Given the description of an element on the screen output the (x, y) to click on. 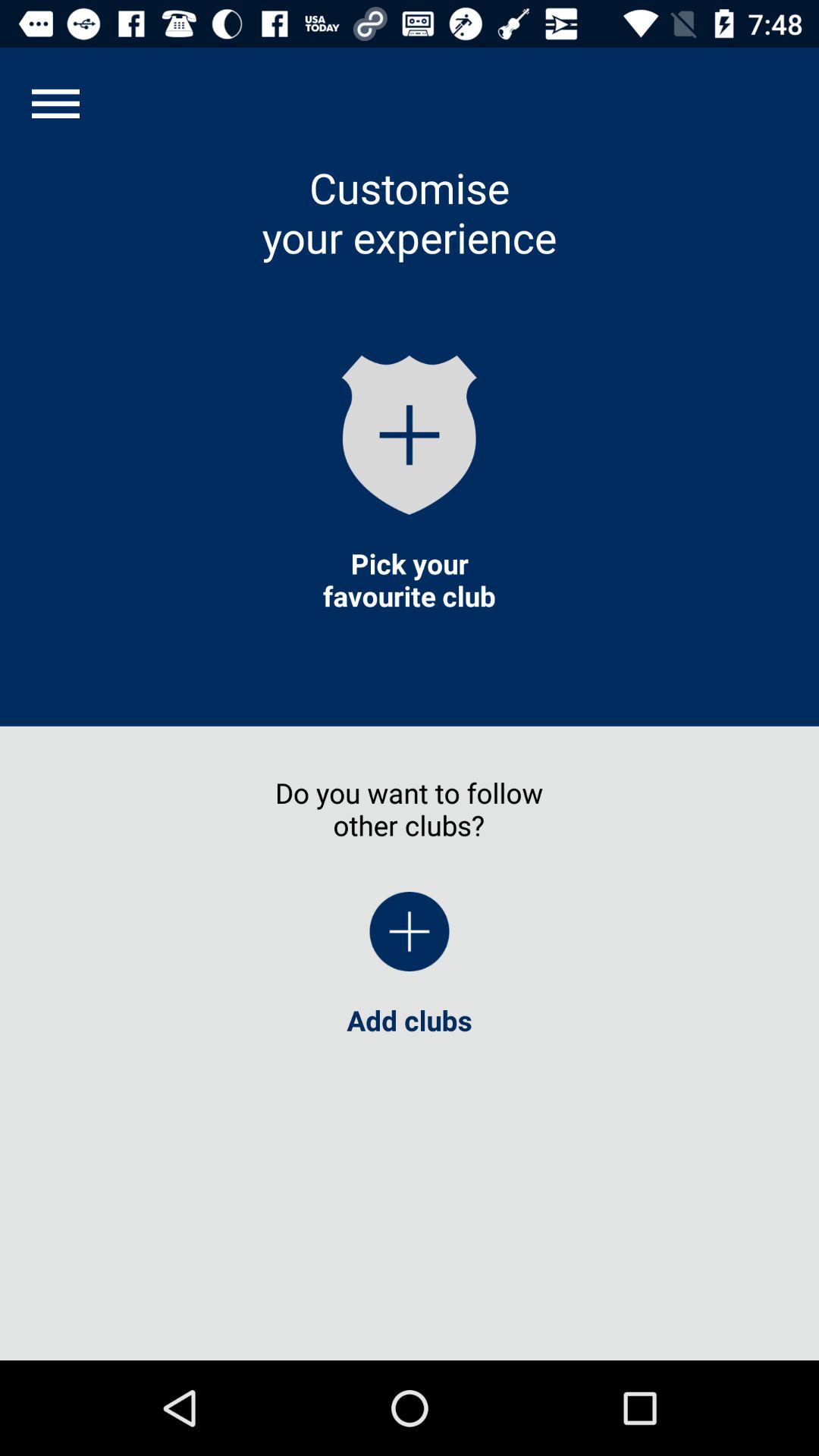
select the item above the add clubs (409, 931)
